Given the description of an element on the screen output the (x, y) to click on. 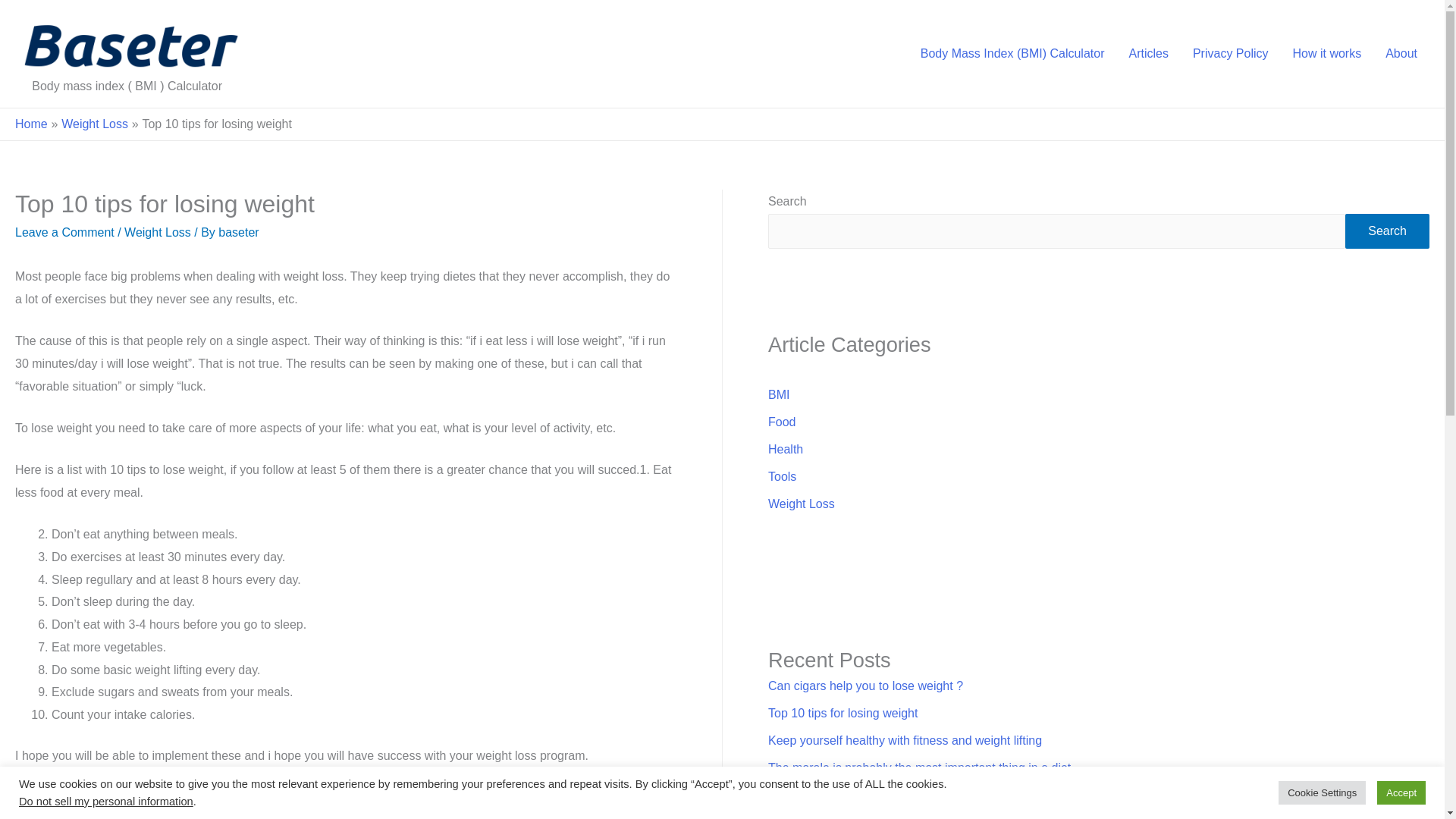
About (1401, 53)
Home (31, 123)
Articles (1147, 53)
Search (1387, 230)
Weight Loss (94, 123)
Health (785, 449)
Tools (782, 476)
How it works (1326, 53)
BMI (778, 394)
Privacy Policy (1230, 53)
